Given the description of an element on the screen output the (x, y) to click on. 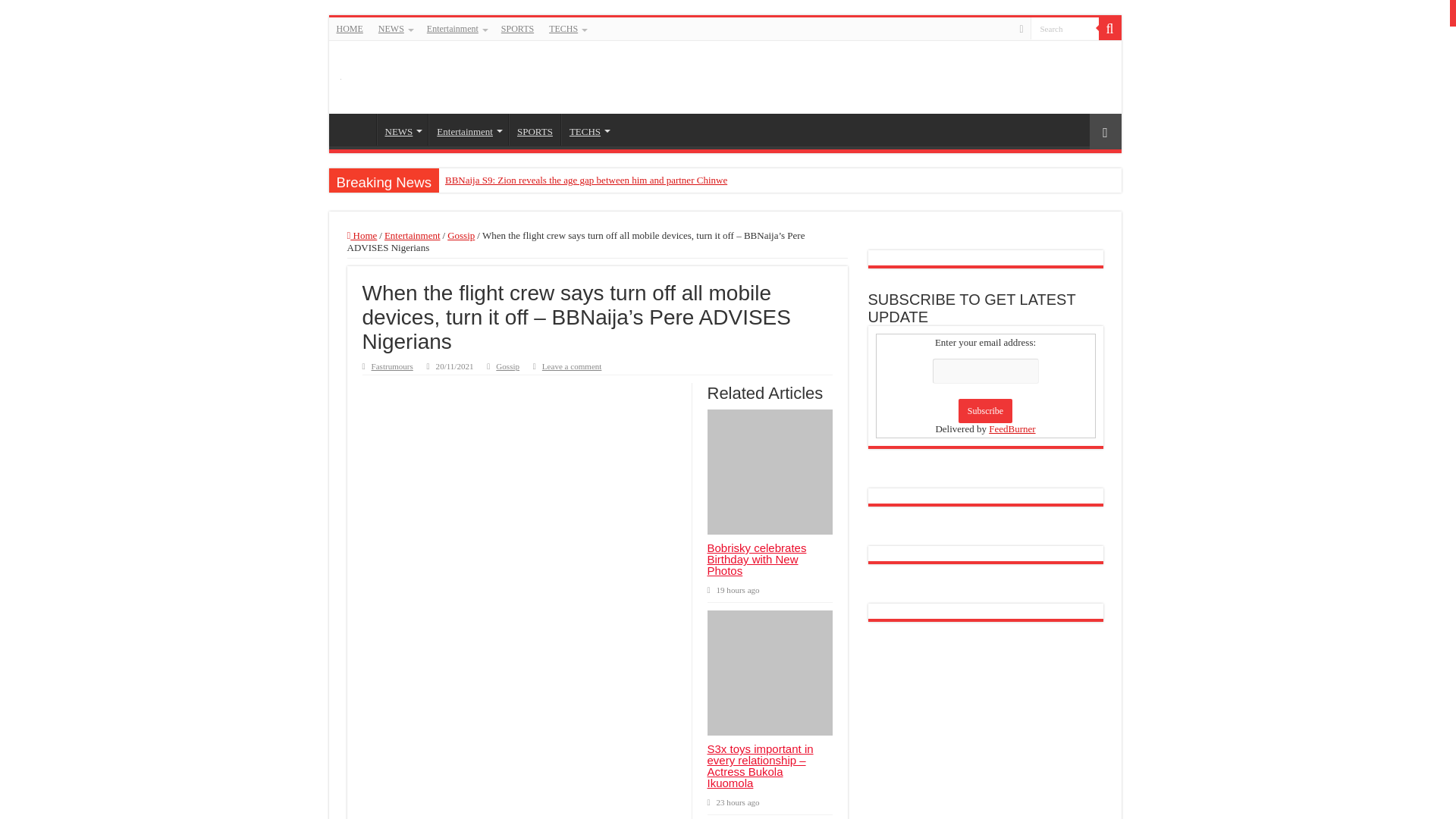
HOME (350, 28)
Search (1109, 28)
Subscribe (984, 410)
TECHS (587, 129)
TECHS (566, 28)
Entertainment (468, 129)
Entertainment (412, 235)
Home (362, 235)
